Given the description of an element on the screen output the (x, y) to click on. 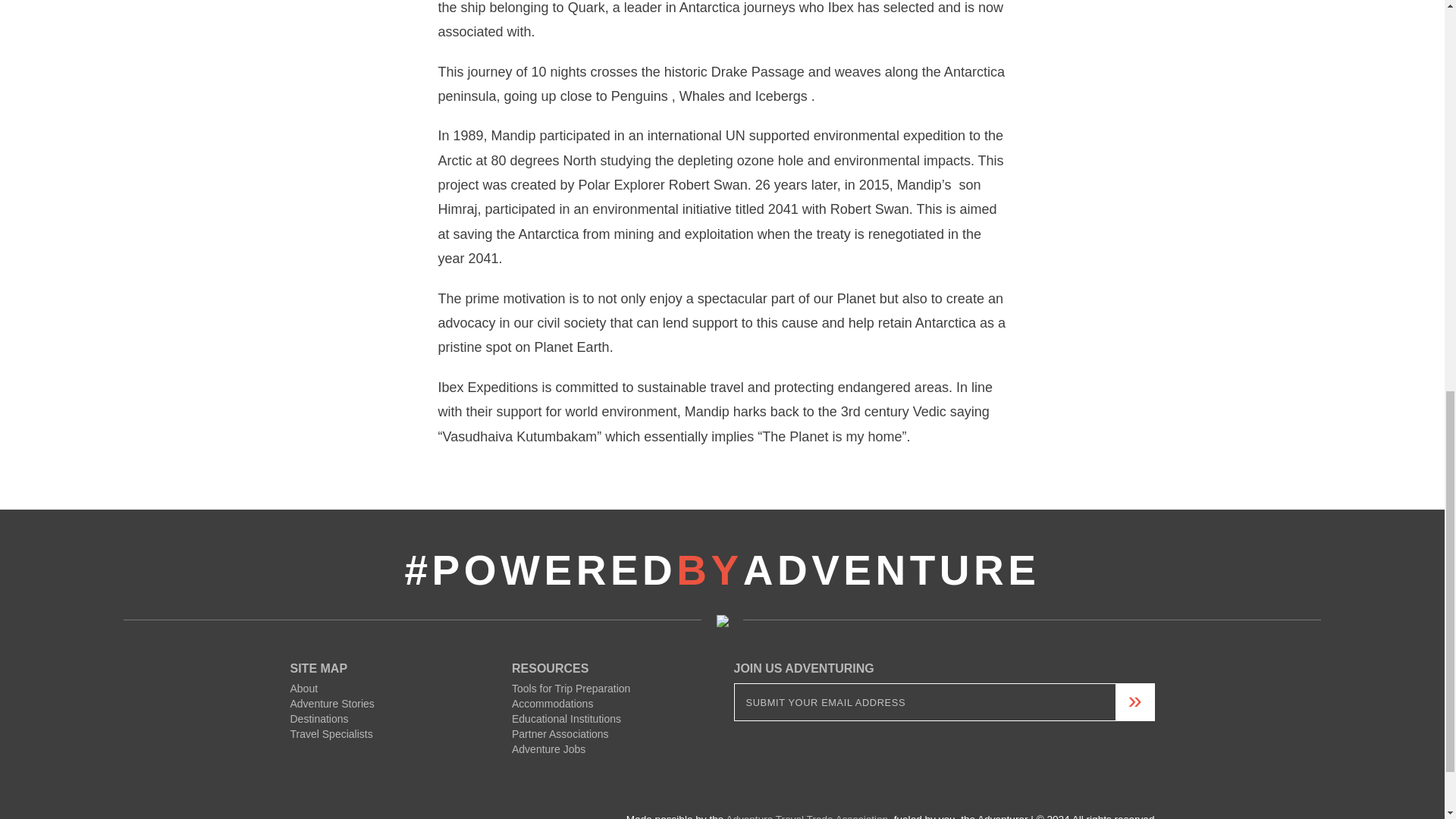
Adventure.Travel (352, 811)
Destinations (318, 718)
Accommodations (552, 703)
Adventure Jobs (548, 748)
Travel Specialists (330, 734)
Partner Associations (560, 734)
Educational Institutions (566, 718)
Adventure Travel Trade Association (806, 816)
Tools for Trip Preparation (571, 688)
About (303, 688)
Adventure Stories (331, 703)
